Given the description of an element on the screen output the (x, y) to click on. 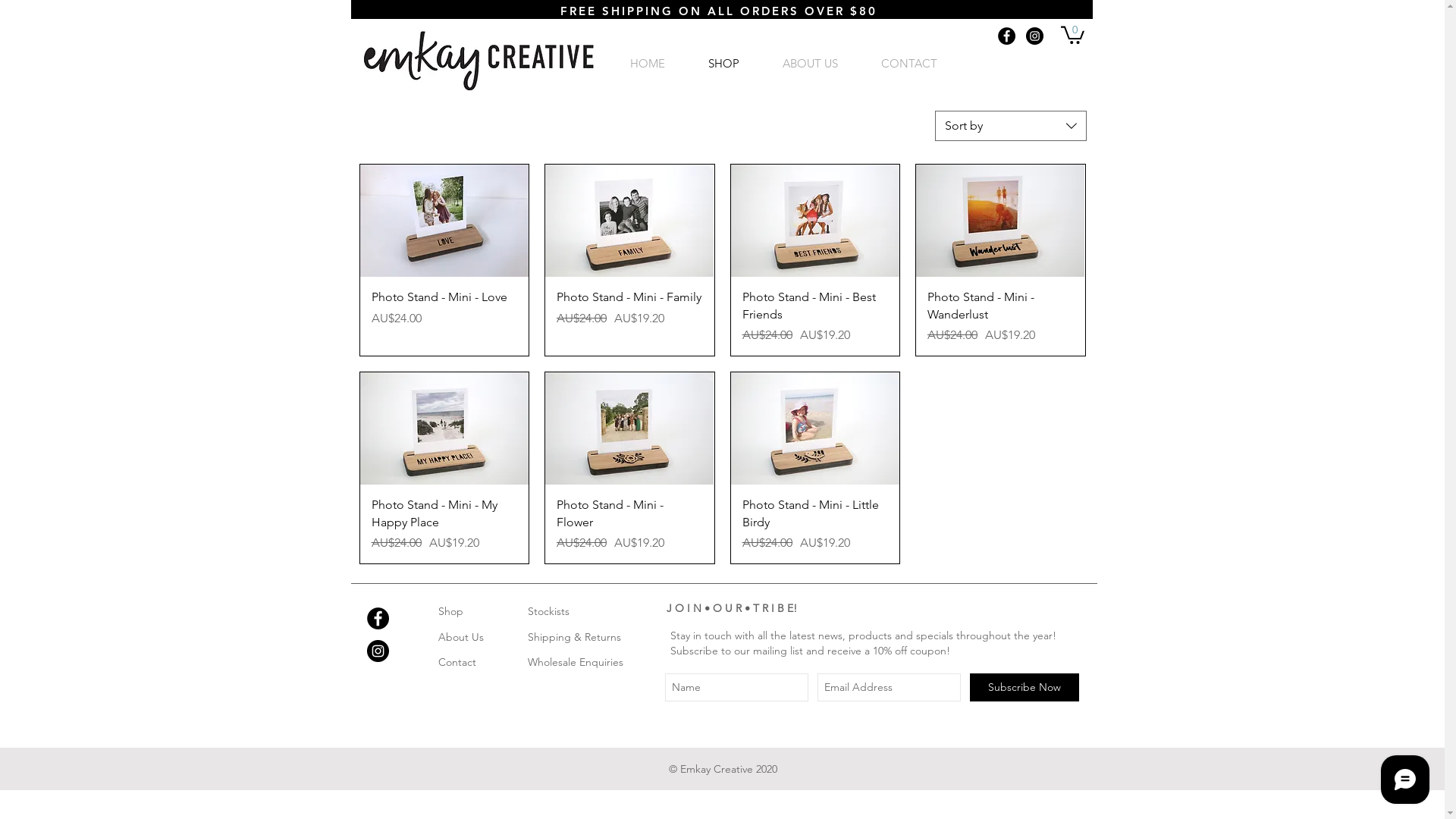
Stockists Element type: text (548, 611)
Site Search Element type: hover (1029, 65)
HOME Element type: text (647, 62)
Wholesale Enquiries Element type: text (575, 661)
Shipping & Returns Element type: text (574, 636)
CONTACT Element type: text (909, 62)
About Us Element type: text (460, 636)
Shop Element type: text (450, 611)
SHOP Element type: text (724, 62)
Photo Stand - Mini - Love
Price
AU$24.00 Element type: text (444, 316)
Sort by Element type: text (1009, 125)
Subscribe Now Element type: text (1023, 687)
0 Element type: text (1071, 33)
Contact Element type: text (457, 661)
ABOUT US Element type: text (810, 62)
